Given the description of an element on the screen output the (x, y) to click on. 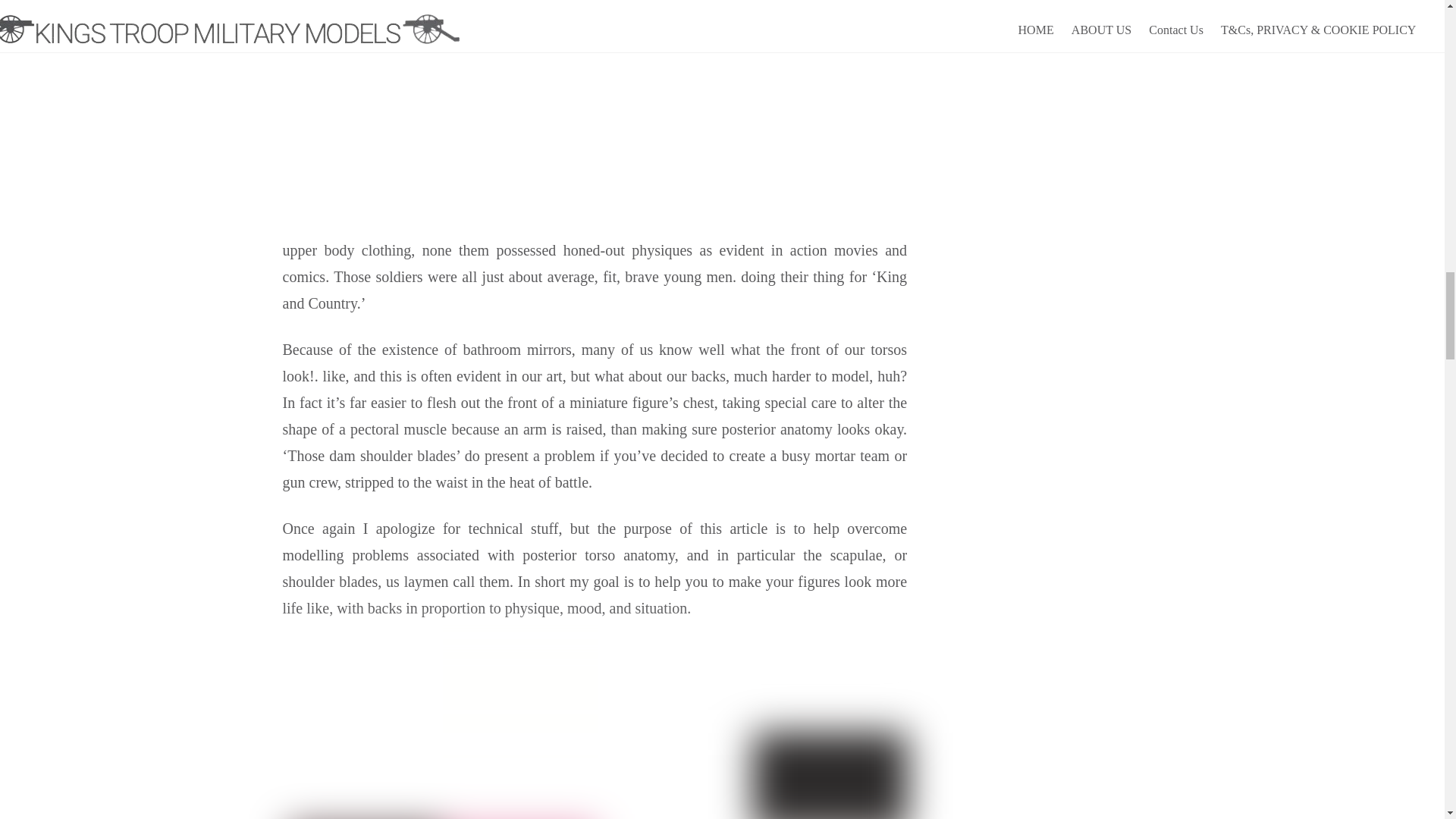
Screenshot 2021-08-05 at 22.24.00 (597, 105)
Screenshot 2021-08-05 at 22.25.20 (597, 728)
